Given the description of an element on the screen output the (x, y) to click on. 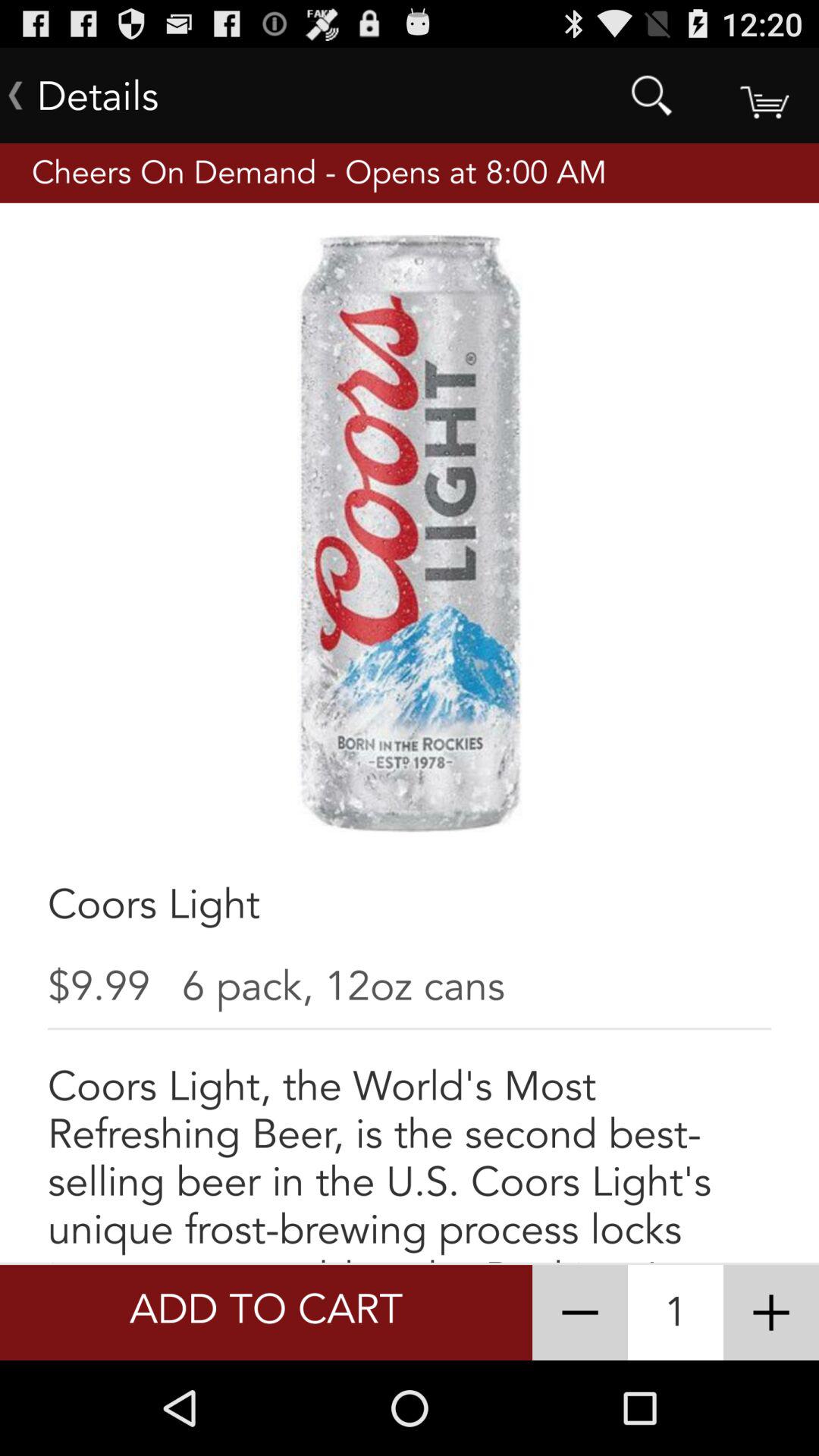
add to card (763, 95)
